Given the description of an element on the screen output the (x, y) to click on. 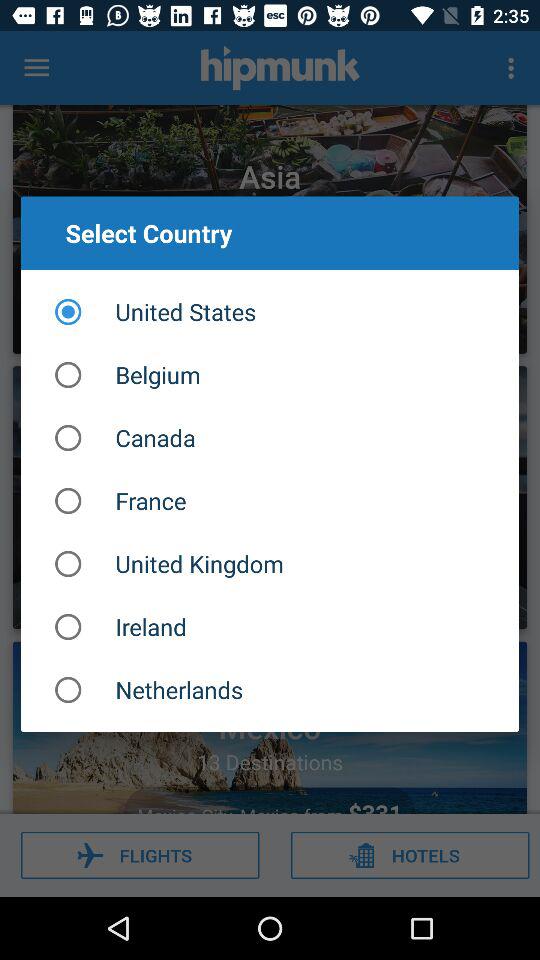
click united states at the top (270, 311)
